Given the description of an element on the screen output the (x, y) to click on. 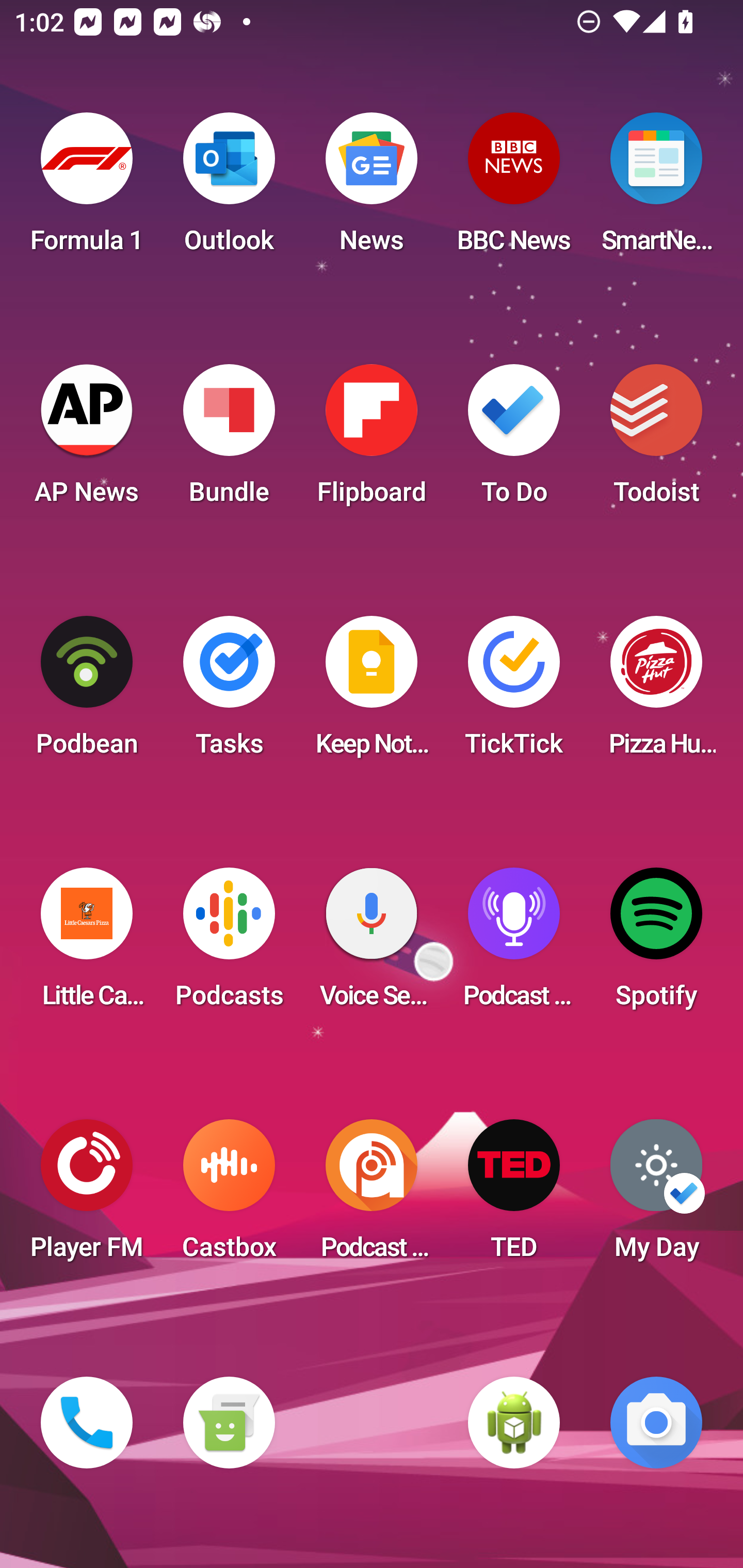
Formula 1 (86, 188)
Outlook (228, 188)
News (371, 188)
BBC News (513, 188)
SmartNews (656, 188)
AP News (86, 440)
Bundle (228, 440)
Flipboard (371, 440)
To Do (513, 440)
Todoist (656, 440)
Podbean (86, 692)
Tasks (228, 692)
Keep Notes (371, 692)
TickTick (513, 692)
Pizza Hut HK & Macau (656, 692)
Little Caesars Pizza (86, 943)
Podcasts (228, 943)
Voice Search (371, 943)
Podcast Player (513, 943)
Spotify (656, 943)
Player FM (86, 1195)
Castbox (228, 1195)
Podcast Addict (371, 1195)
TED (513, 1195)
My Day (656, 1195)
Phone (86, 1422)
Messaging (228, 1422)
WebView Browser Tester (513, 1422)
Camera (656, 1422)
